Given the description of an element on the screen output the (x, y) to click on. 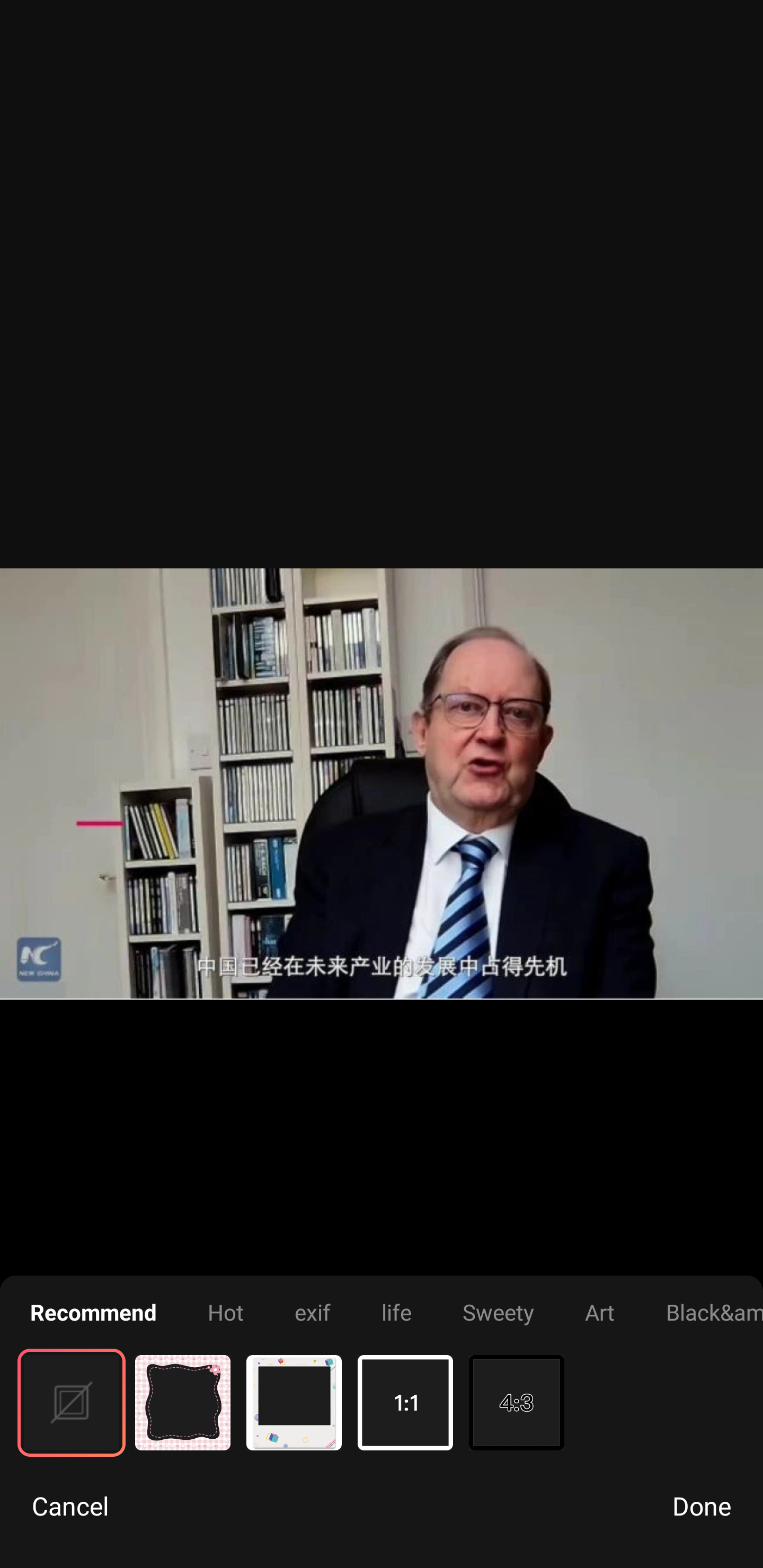
Recommend (93, 1312)
Hot (225, 1312)
exif (312, 1312)
life (396, 1312)
Sweety (498, 1312)
Art (599, 1312)
Black&amp;amp;amp;amp;amp;amp;amp;amp;amp;amp (714, 1312)
Cancel (70, 1505)
Done (701, 1505)
